Given the description of an element on the screen output the (x, y) to click on. 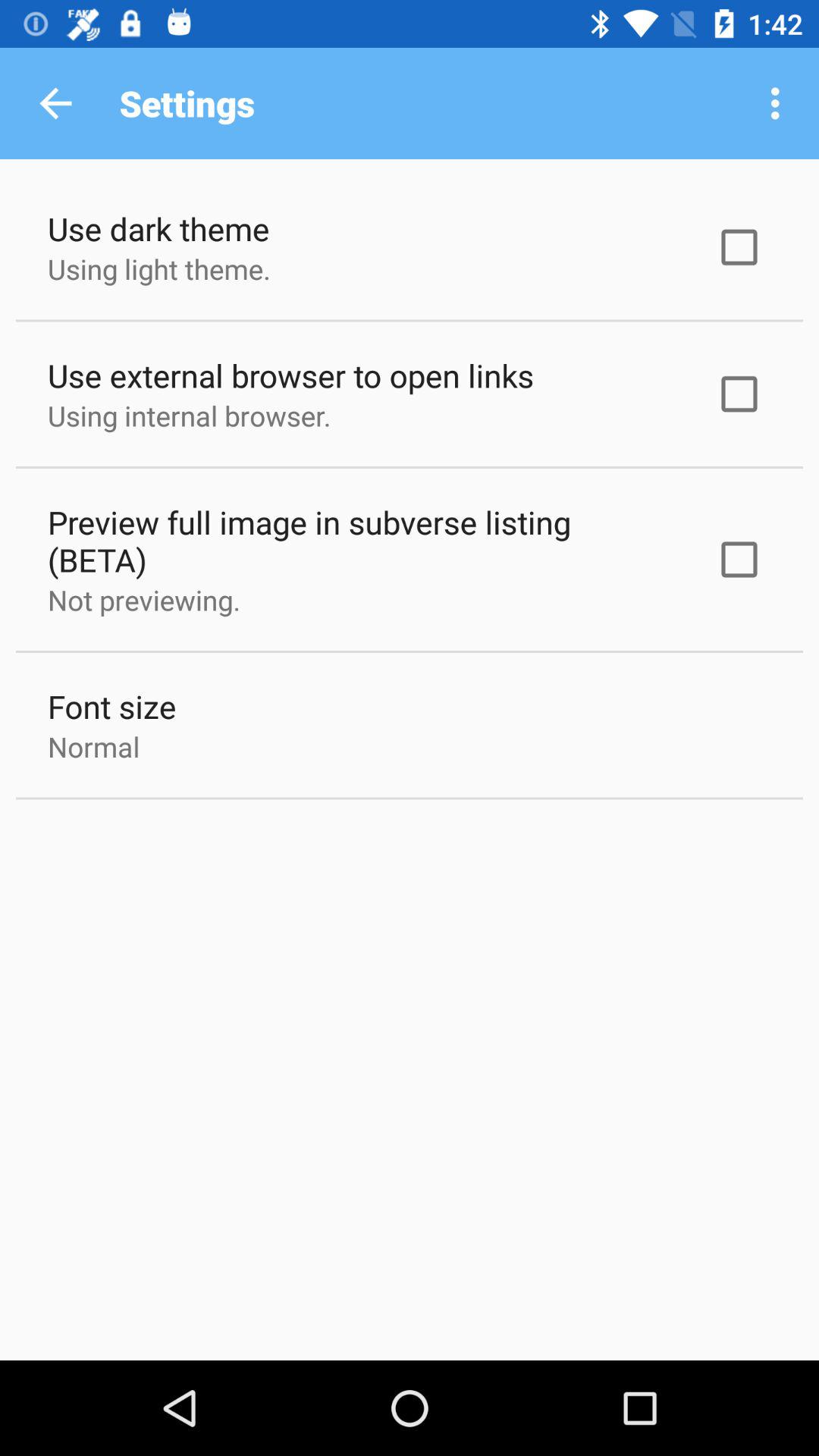
jump until the font size item (111, 706)
